Given the description of an element on the screen output the (x, y) to click on. 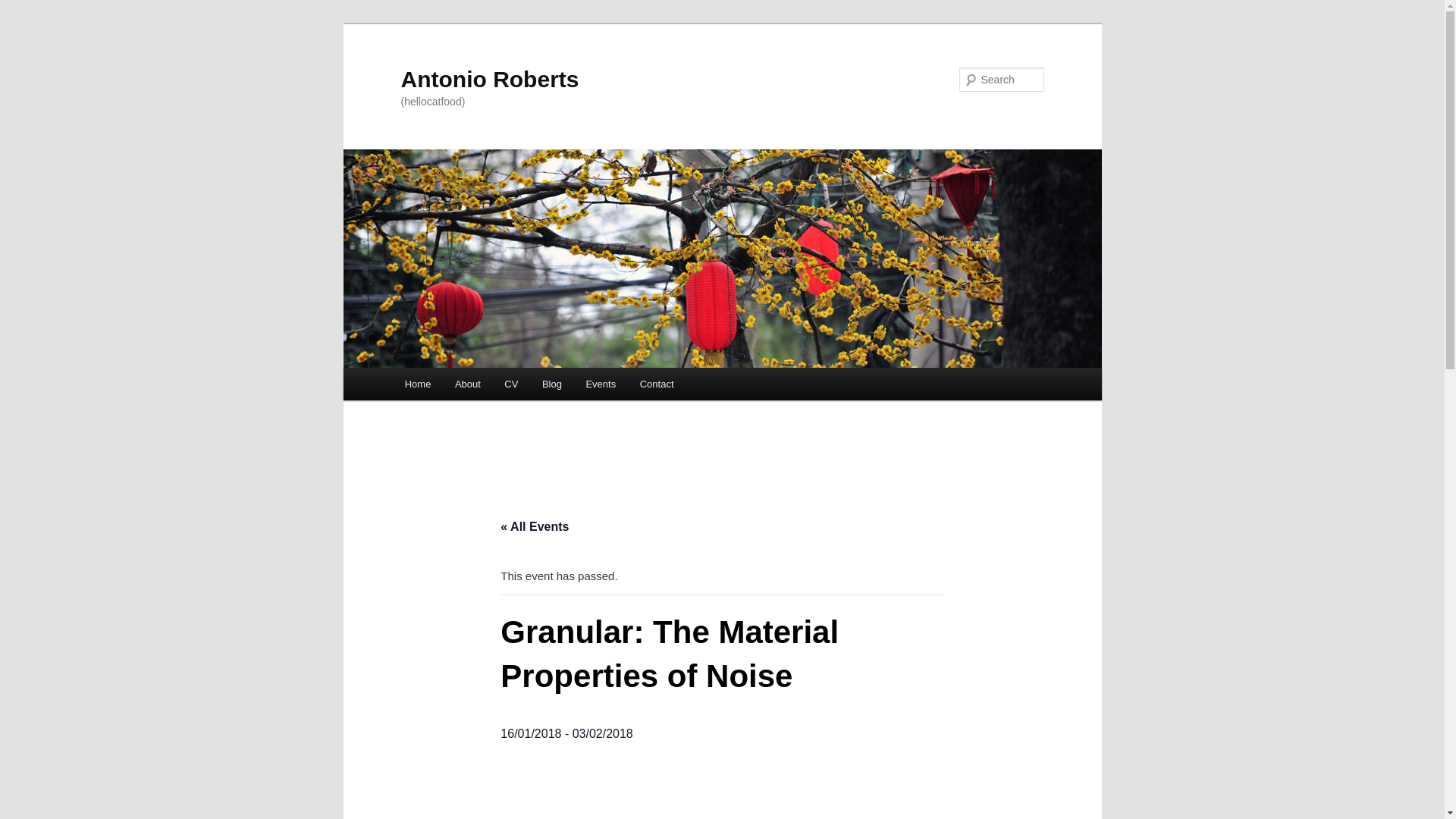
About (467, 383)
CV (512, 383)
Antonio Roberts (489, 78)
Contact (656, 383)
Home (417, 383)
Search (24, 8)
Blog (551, 383)
Events (600, 383)
